Given the description of an element on the screen output the (x, y) to click on. 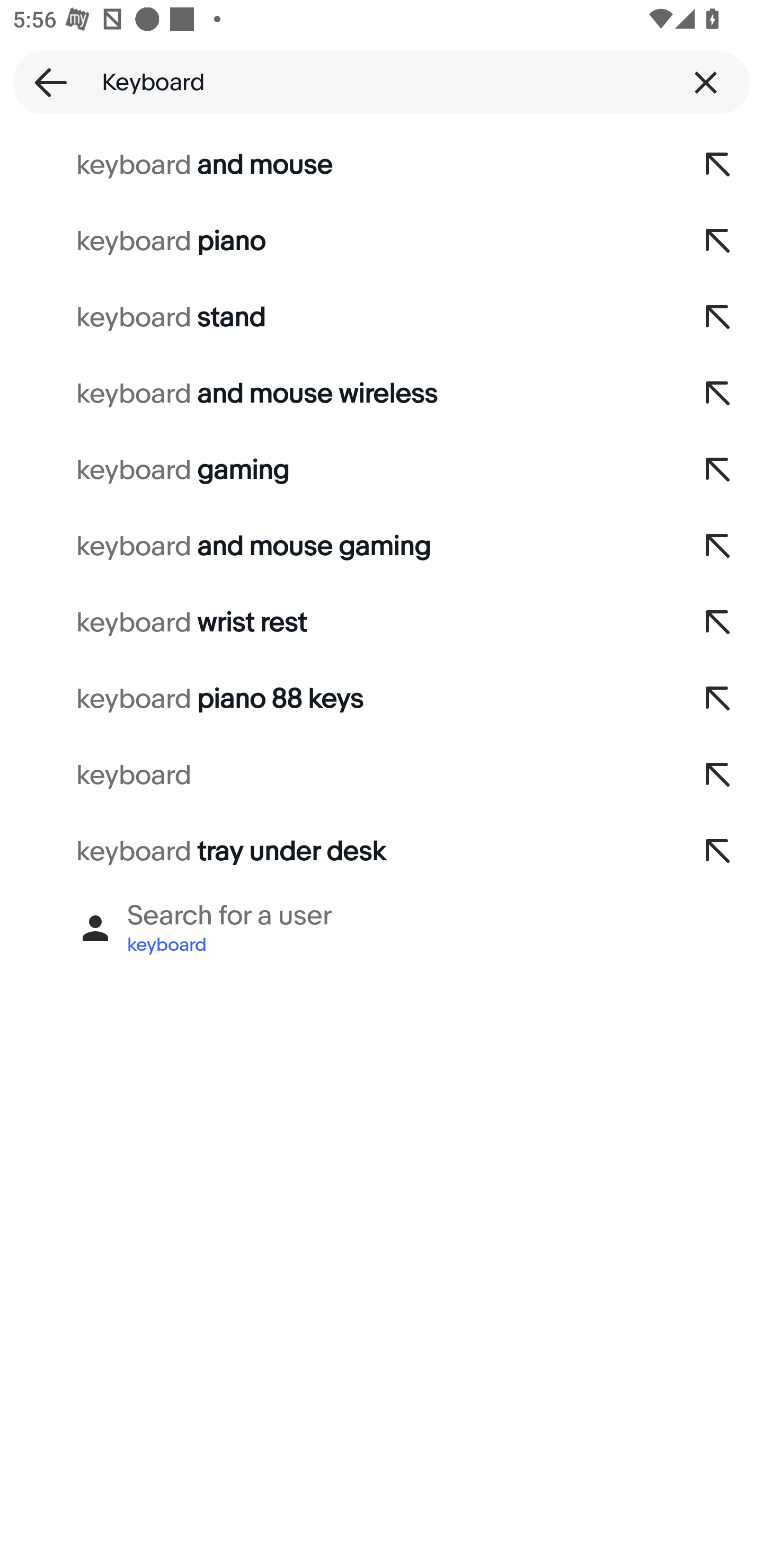
Back (44, 82)
Clear query (705, 82)
Keyboard (381, 82)
keyboard and mouse (336, 165)
Add to search query,keyboard and mouse (718, 165)
keyboard piano (336, 241)
Add to search query,keyboard piano (718, 241)
keyboard stand (336, 317)
Add to search query,keyboard stand (718, 317)
keyboard and mouse wireless (336, 393)
Add to search query,keyboard and mouse wireless (718, 393)
keyboard gaming (336, 470)
Add to search query,keyboard gaming (718, 470)
keyboard and mouse gaming (336, 546)
Add to search query,keyboard and mouse gaming (718, 546)
keyboard wrist rest (336, 622)
Add to search query,keyboard wrist rest (718, 622)
keyboard piano 88 keys (336, 698)
Add to search query,keyboard piano 88 keys (718, 698)
keyboard (336, 774)
Add to search query,keyboard (718, 774)
keyboard tray under desk (336, 851)
Add to search query,keyboard tray under desk (718, 851)
Search for a user
keyboard (381, 927)
